Given the description of an element on the screen output the (x, y) to click on. 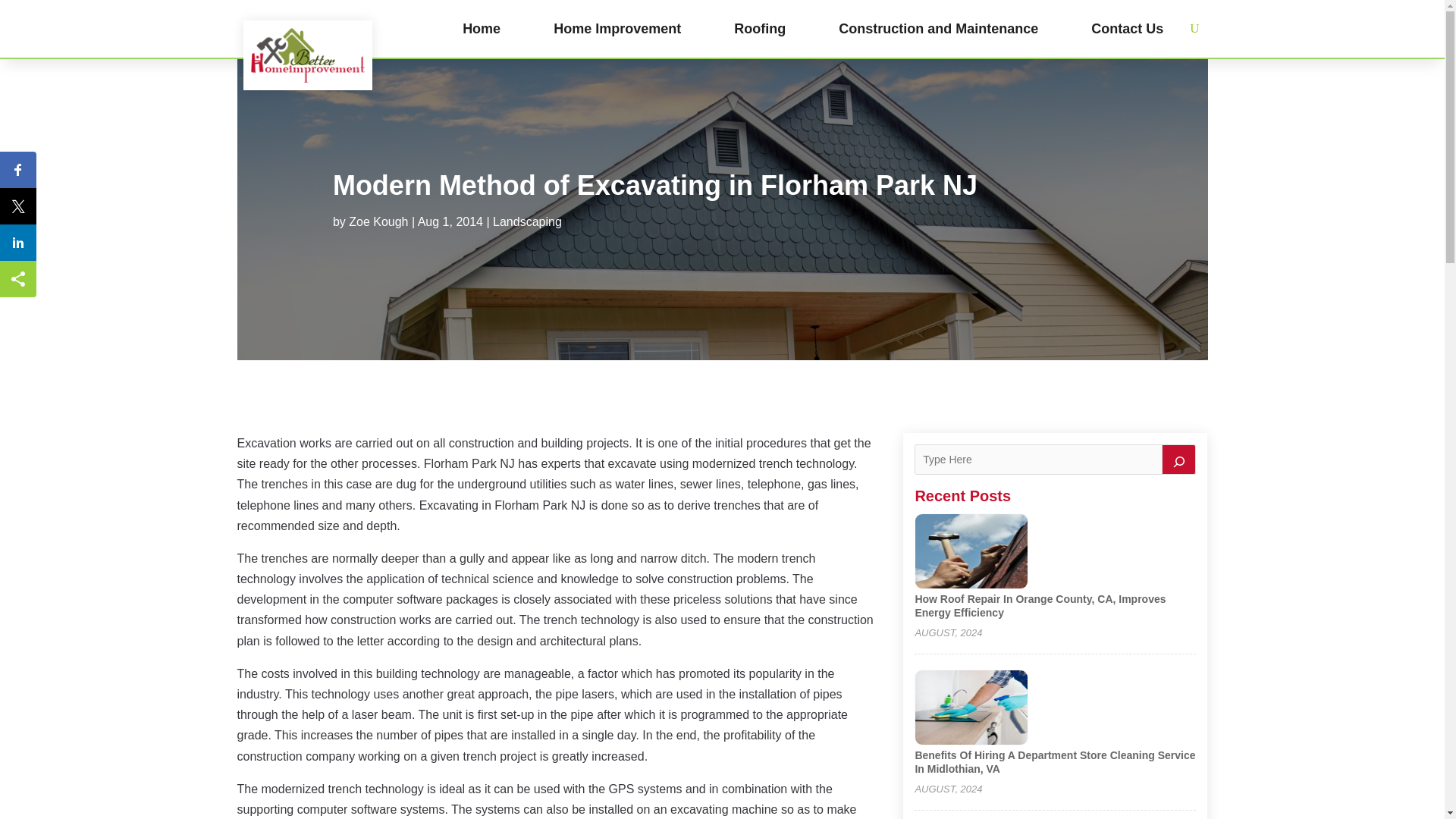
Roofing (759, 28)
Zoe Kough (378, 221)
Construction and Maintenance (938, 28)
Posts by Zoe Kough (378, 221)
Landscaping (527, 221)
Contact Us (1126, 28)
Home Improvement (617, 28)
